Given the description of an element on the screen output the (x, y) to click on. 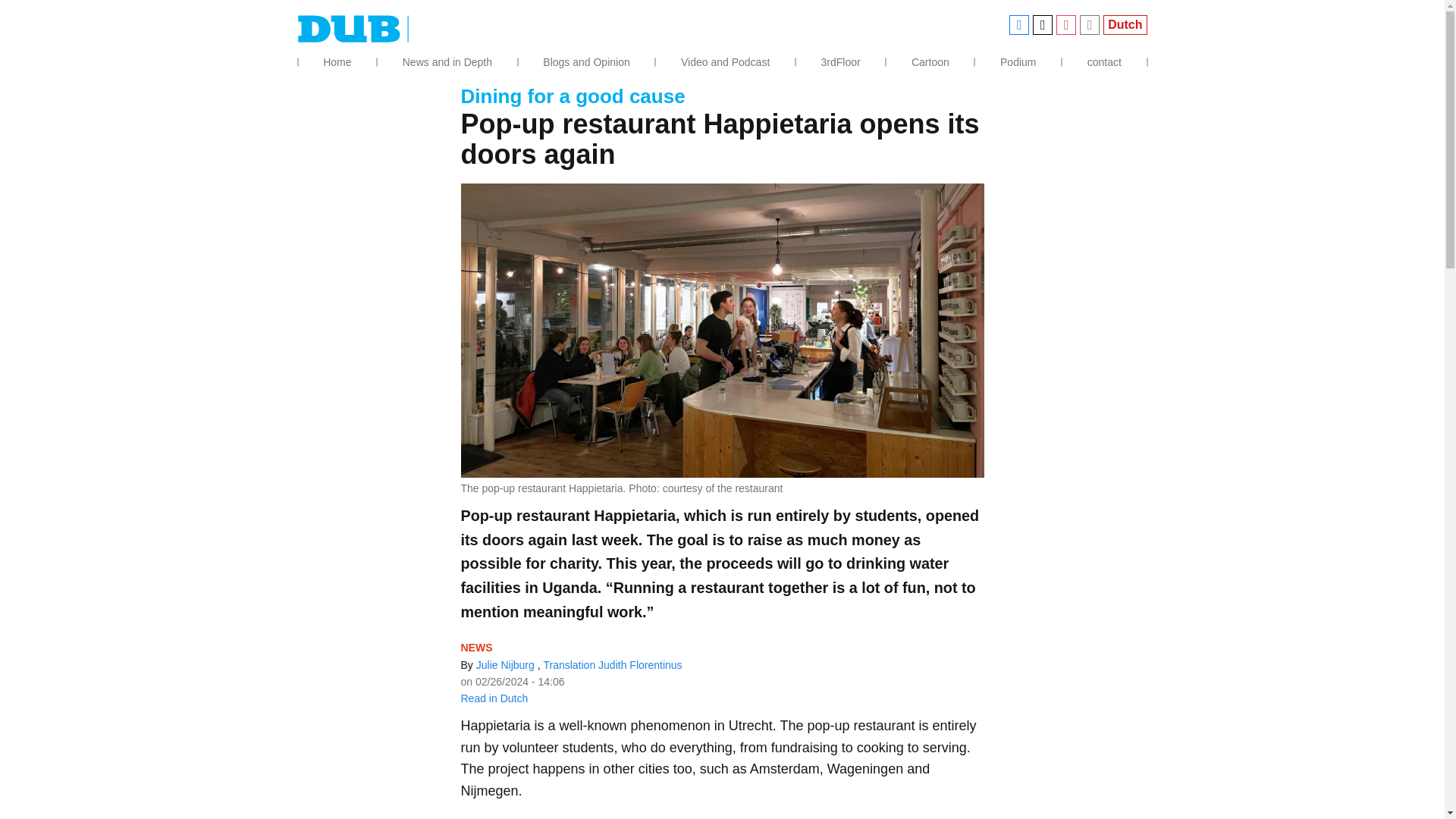
Read in Dutch (494, 698)
Podium (1017, 62)
Blogs and Opinion (587, 62)
Julie Nijburg (505, 664)
Cartoon (929, 62)
Home (337, 62)
Twitter (1042, 25)
Instagram (1066, 25)
Dutch (1125, 25)
NEWS (477, 647)
Facebook (1019, 25)
Zoeken (1089, 25)
Video and Podcast (724, 62)
